Given the description of an element on the screen output the (x, y) to click on. 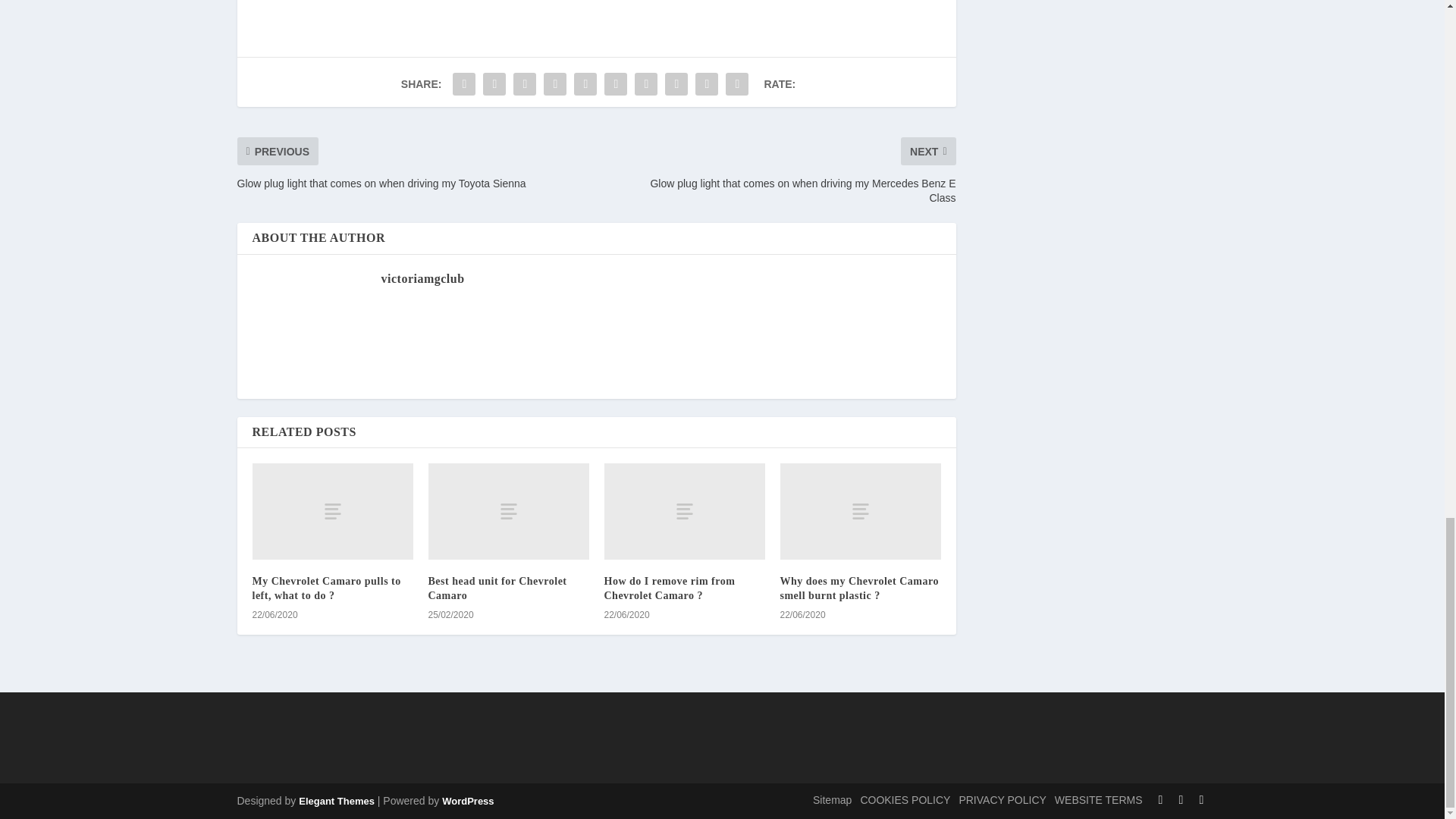
WEBSITE TERMS (1098, 799)
WordPress (467, 800)
Why does my Chevrolet Camaro smell burnt plastic ? (857, 587)
COOKIES POLICY (905, 799)
